Given the description of an element on the screen output the (x, y) to click on. 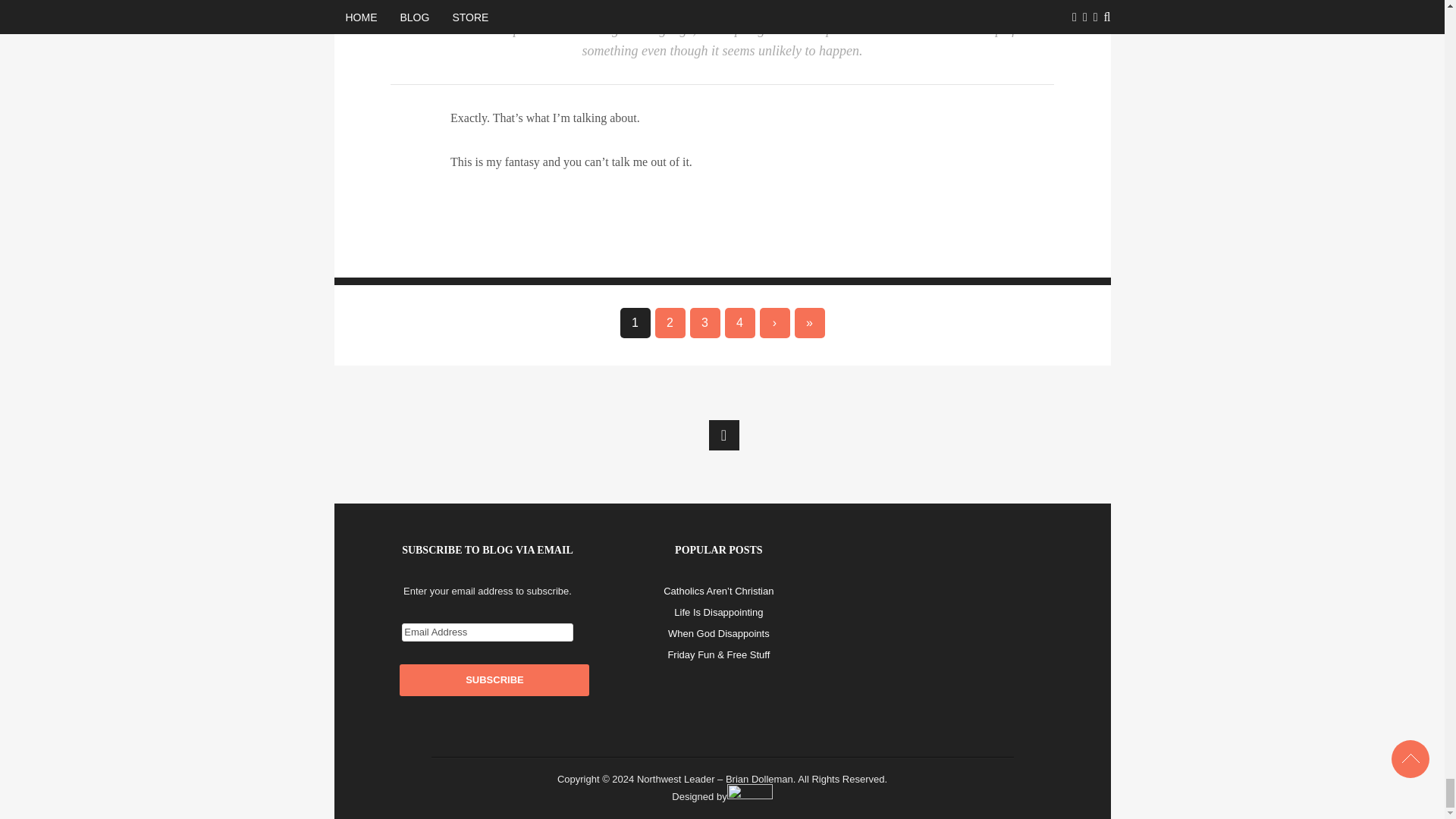
Email Address (486, 632)
Subscribe (493, 680)
